Given the description of an element on the screen output the (x, y) to click on. 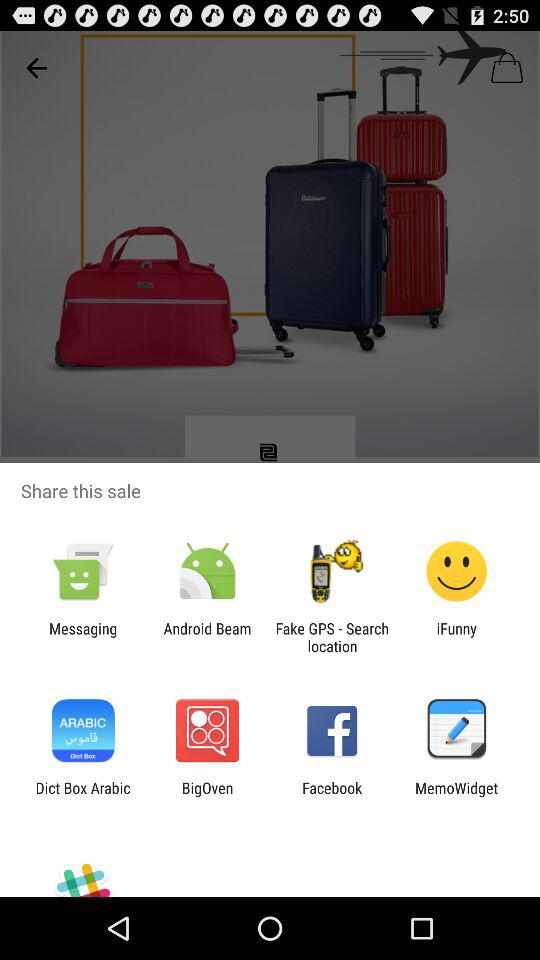
press item next to android beam icon (332, 637)
